Given the description of an element on the screen output the (x, y) to click on. 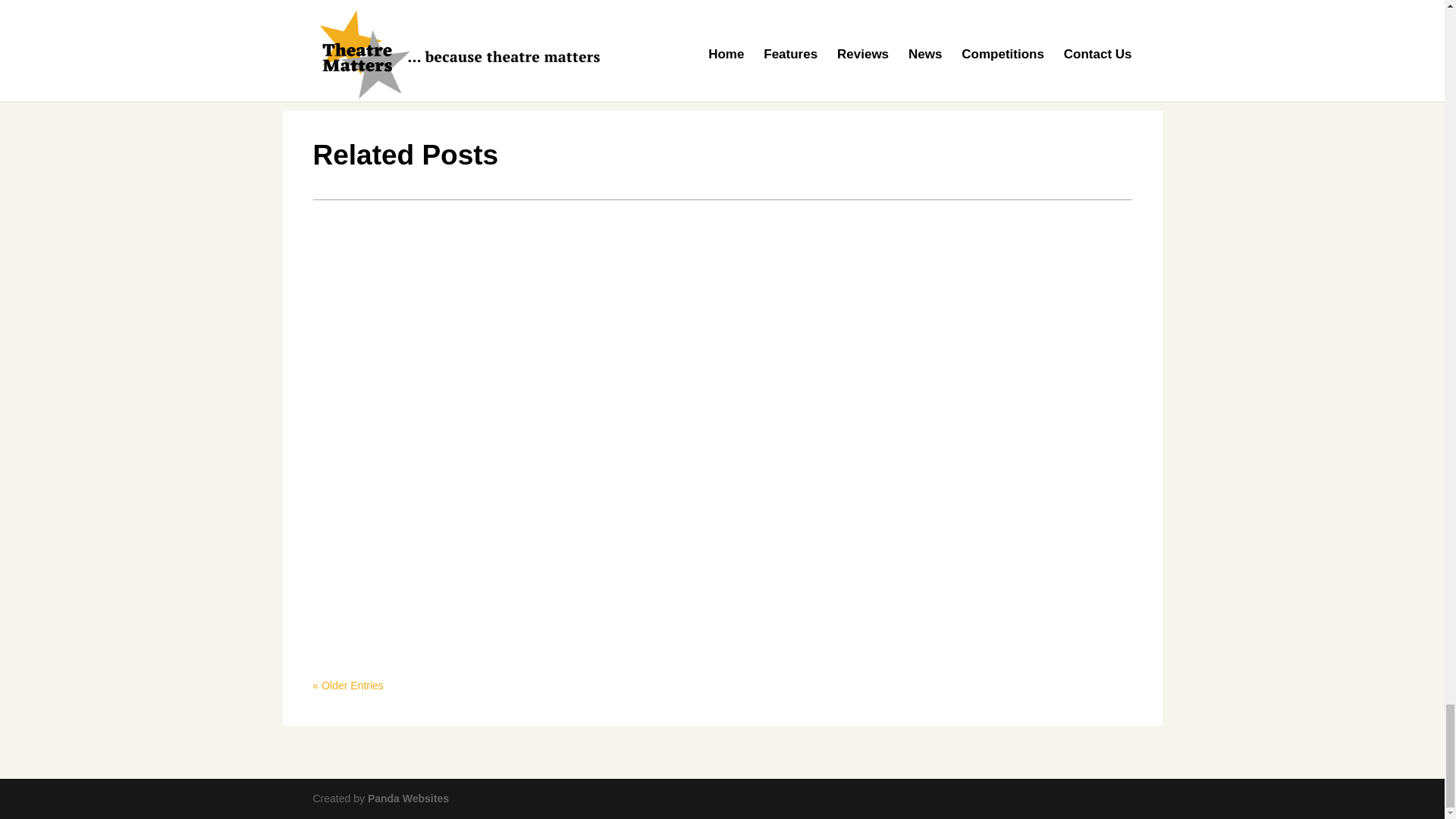
Panda Websites (408, 798)
